Given the description of an element on the screen output the (x, y) to click on. 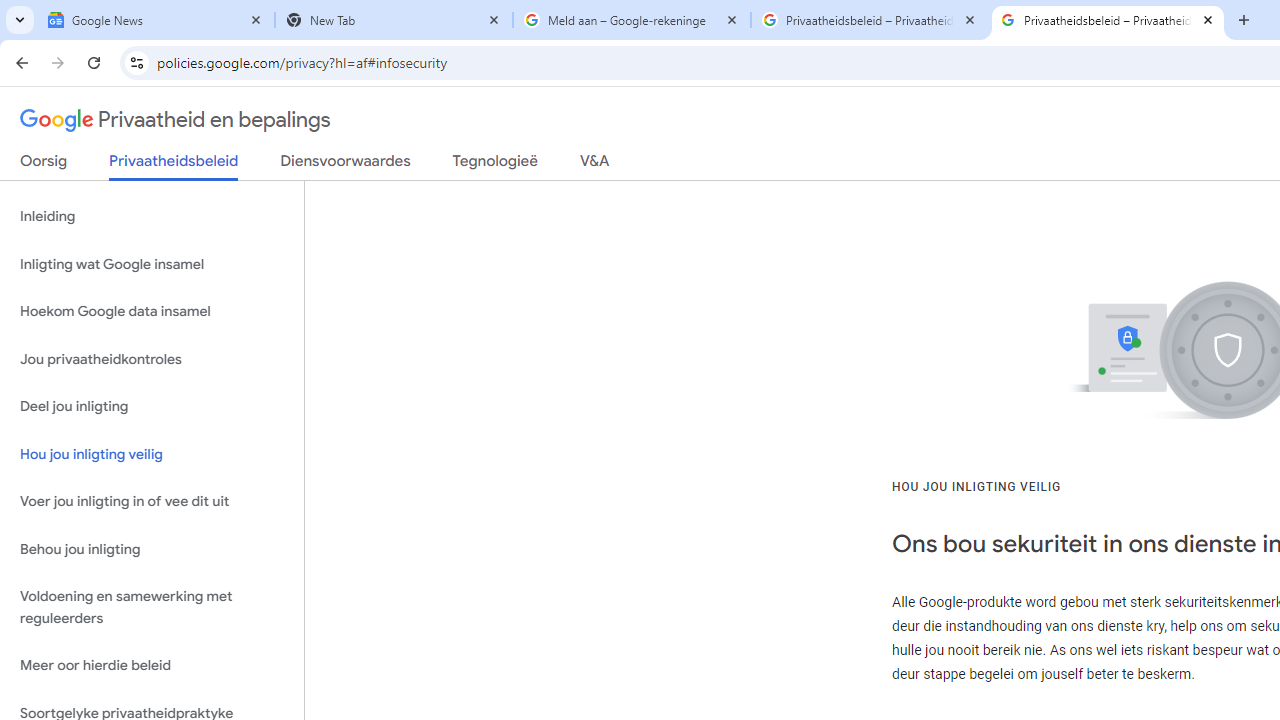
Meer oor hierdie beleid (152, 666)
New Tab (394, 20)
Hoekom Google data insamel (152, 312)
Jou privaatheidkontroles (152, 358)
Diensvoorwaardes (345, 165)
Inleiding (152, 216)
V&A (594, 165)
Deel jou inligting (152, 407)
Privaatheidsbeleid (173, 166)
